Given the description of an element on the screen output the (x, y) to click on. 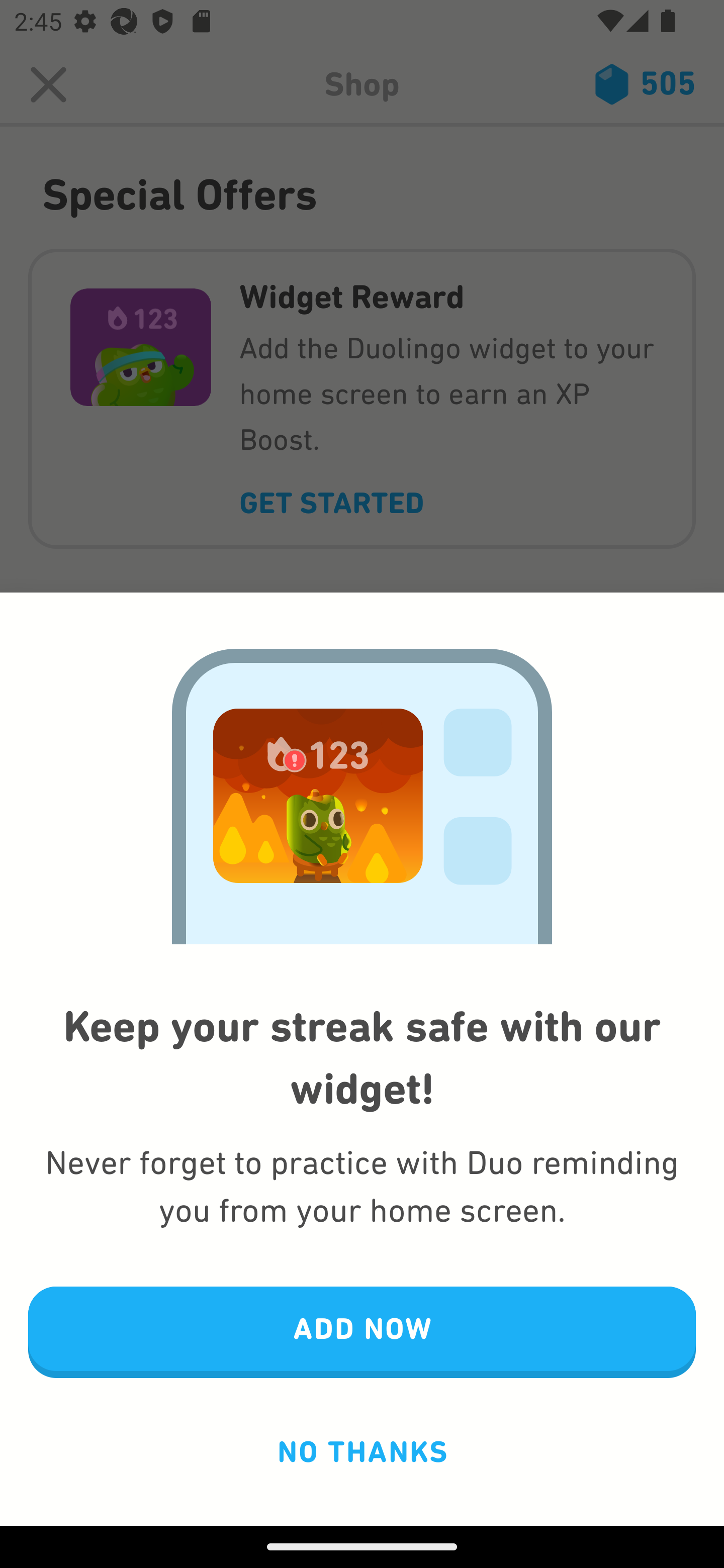
ADD NOW (361, 1332)
NO THANKS (361, 1451)
